Given the description of an element on the screen output the (x, y) to click on. 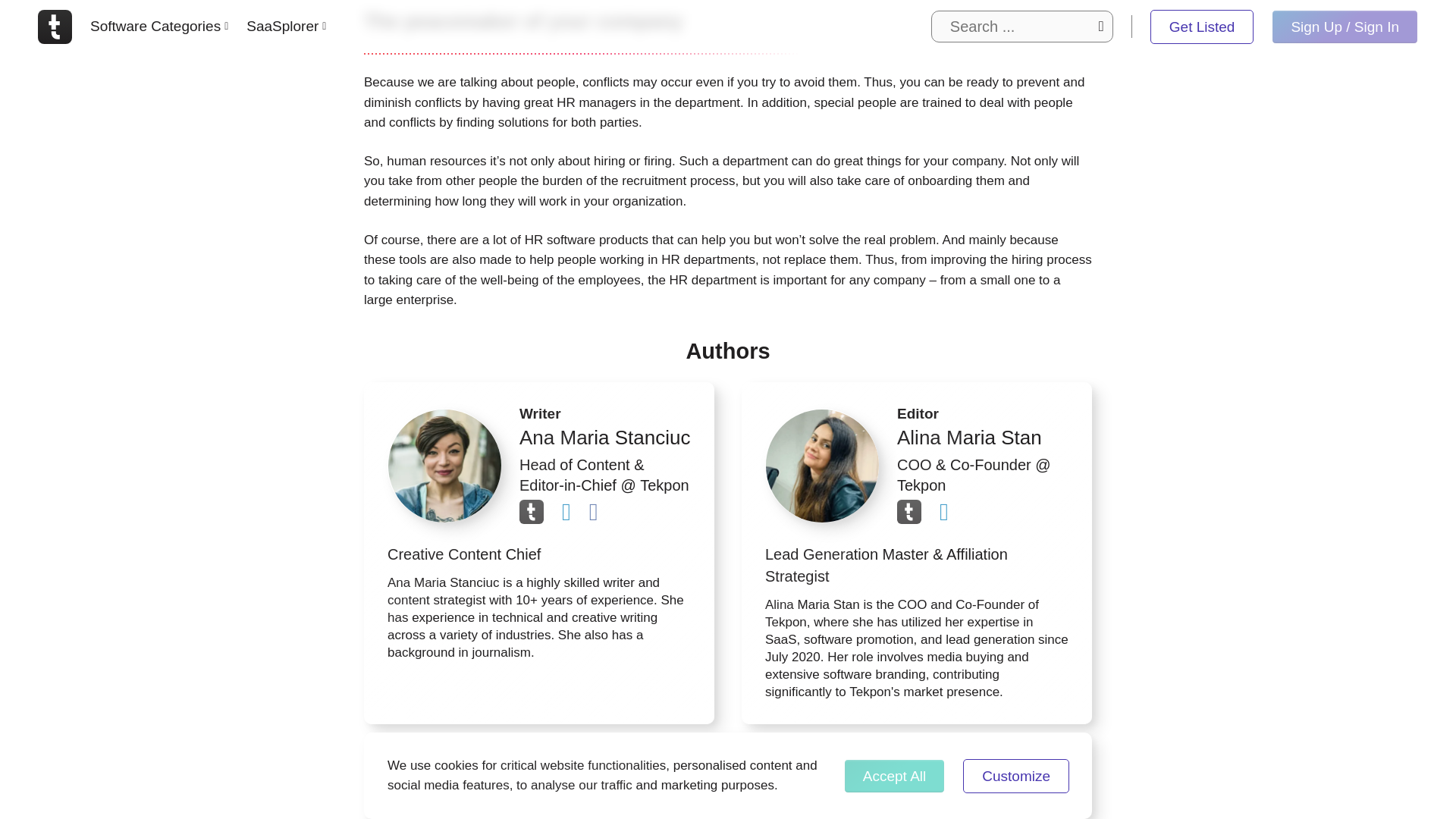
Tekpon Favicon (908, 511)
Tekpon Favicon (531, 511)
Alina Maria Stan (822, 465)
Ana Maria Stanciuc (443, 465)
